Given the description of an element on the screen output the (x, y) to click on. 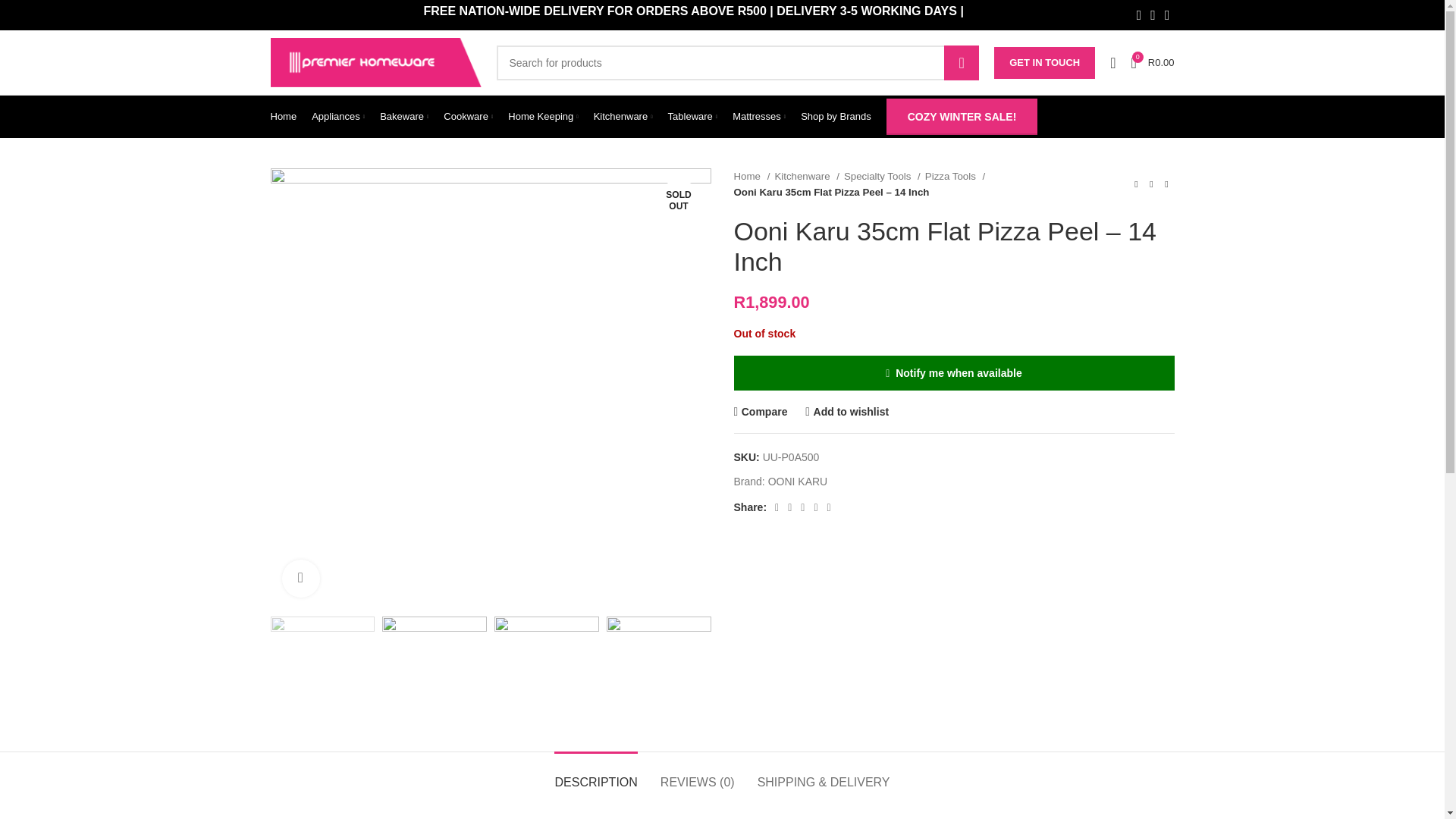
Appliances (338, 116)
Shopping cart (1151, 61)
1x10001uup0a500v06 (1151, 61)
Search for products (960, 62)
GET IN TOUCH (737, 62)
My account (1044, 62)
Home (1112, 61)
